Given the description of an element on the screen output the (x, y) to click on. 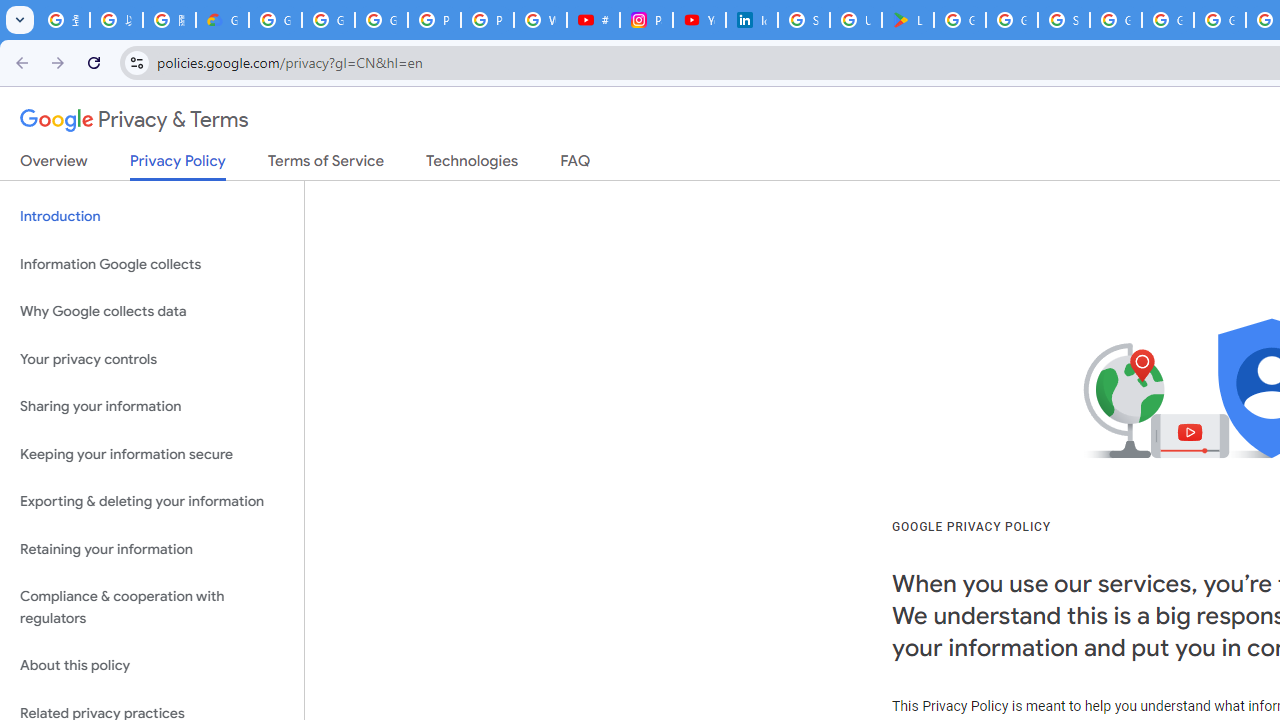
Privacy Help Center - Policies Help (487, 20)
Why Google collects data (152, 312)
#nbabasketballhighlights - YouTube (593, 20)
Sign in - Google Accounts (1064, 20)
Sharing your information (152, 407)
Your privacy controls (152, 358)
Sign in - Google Accounts (803, 20)
